Given the description of an element on the screen output the (x, y) to click on. 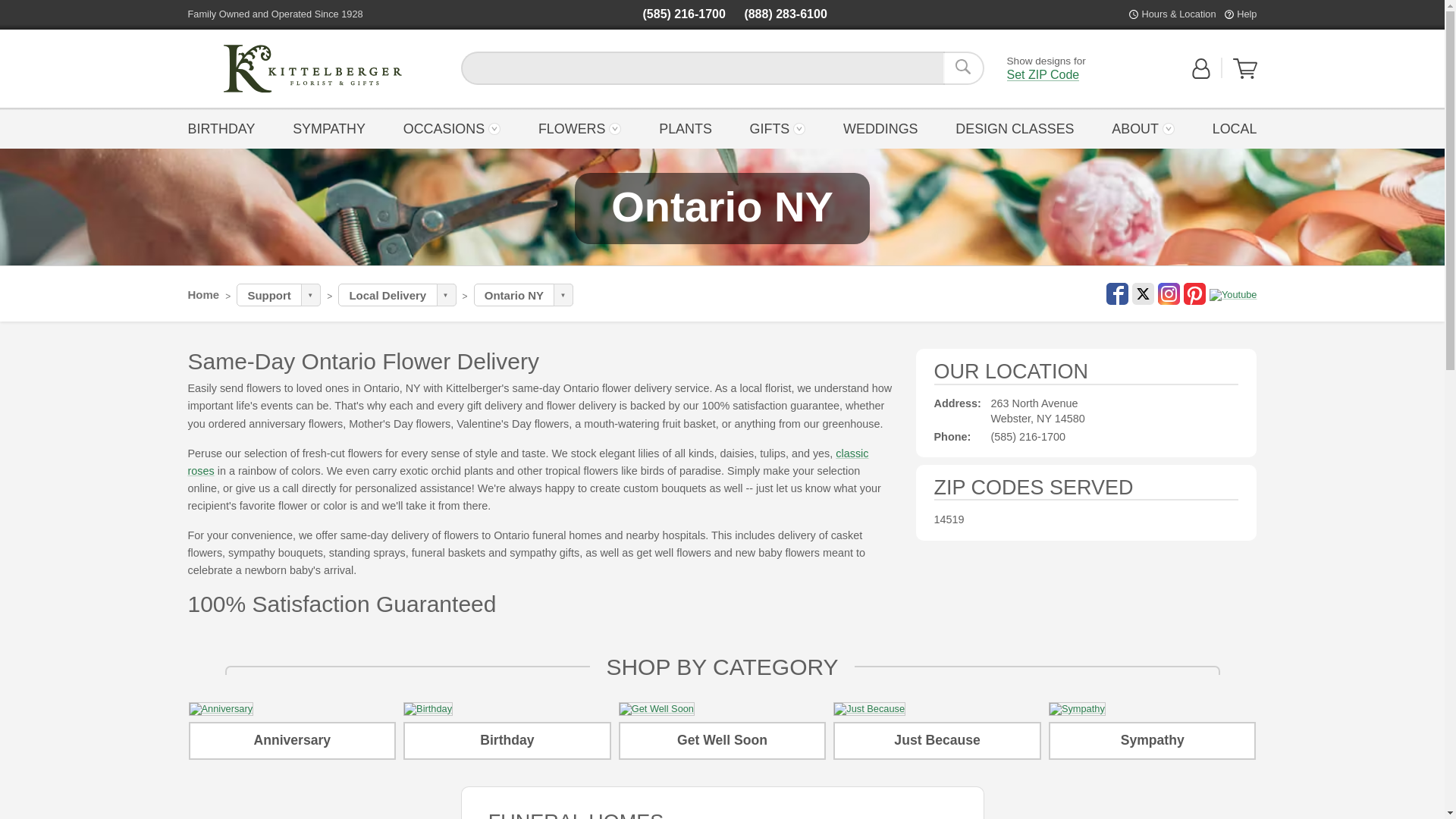
Set ZIP Code (1043, 75)
FLOWERS (579, 127)
Shopping Cart (1245, 68)
BIRTHDAY (225, 127)
User Account (312, 68)
Shopping Cart (1200, 75)
Back to the Home Page (1245, 75)
Help (312, 68)
Search (1246, 13)
